Given the description of an element on the screen output the (x, y) to click on. 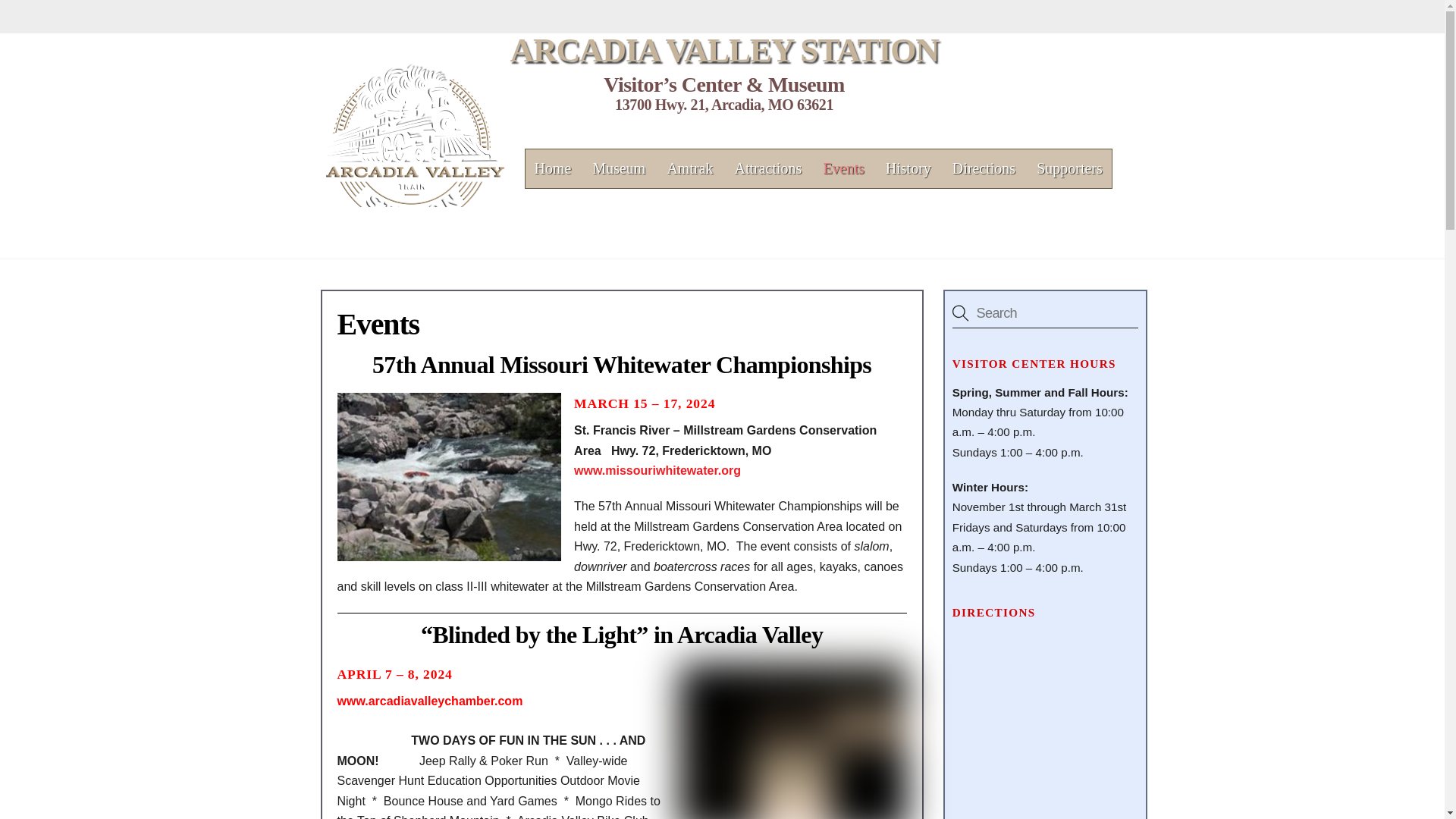
Search (1045, 312)
arcadia valley logo-250a (414, 143)
Events (842, 168)
Home (552, 168)
Attractions (767, 168)
Amtrak (690, 168)
Arcadia Valley Train Station (414, 223)
Museum (618, 168)
Directions (984, 168)
www.missouriwhitewater.org (657, 470)
www.arcadiavalleychamber.com (429, 700)
History (908, 168)
Supporters (1069, 168)
